Given the description of an element on the screen output the (x, y) to click on. 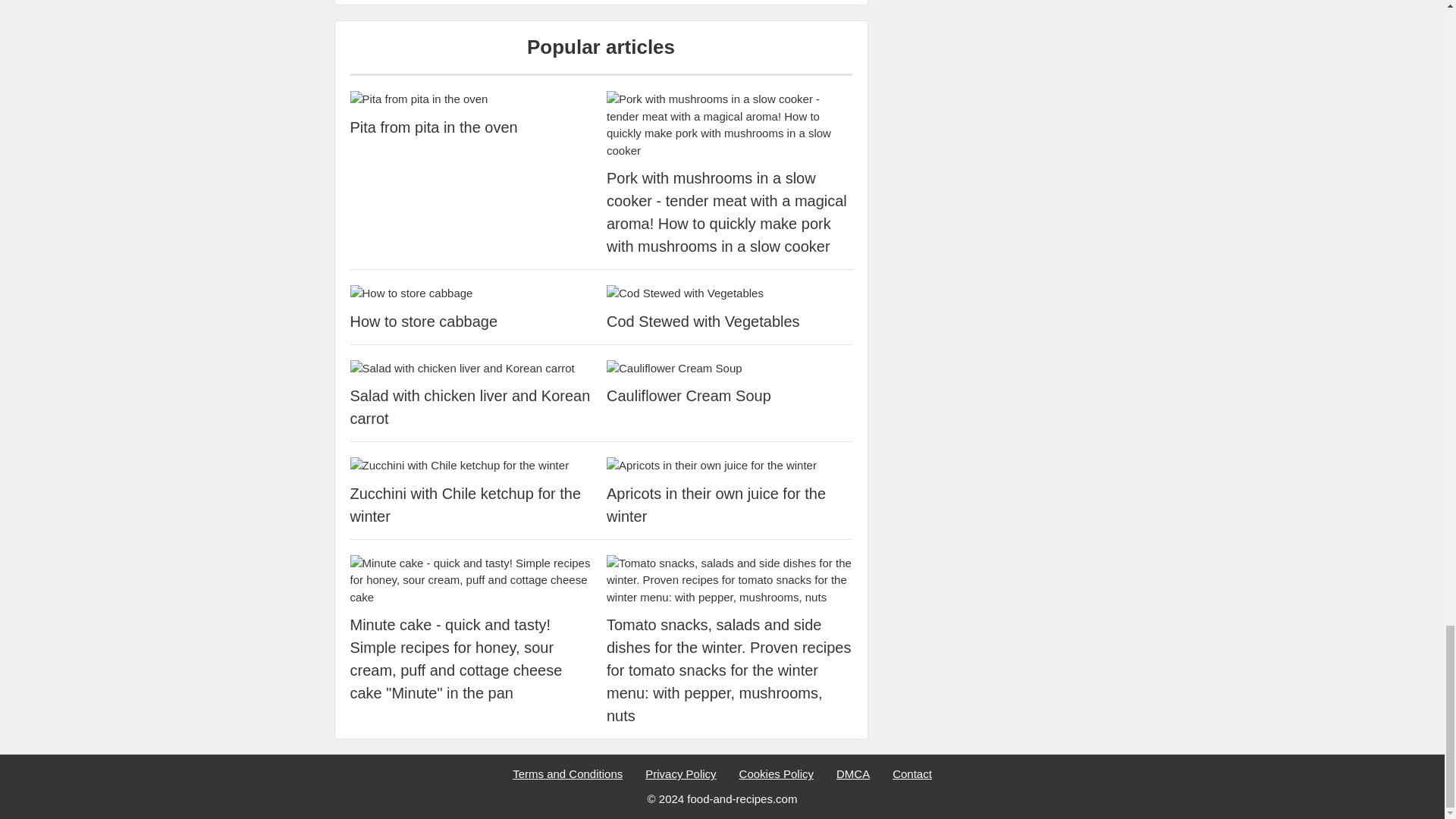
How to store cabbage (472, 293)
Cod Stewed with Vegetables (729, 293)
Salad with chicken liver and Korean carrot (472, 406)
How to store cabbage (472, 321)
Cod Stewed with Vegetables (729, 321)
Pita from pita in the oven (472, 127)
Pita from pita in the oven (472, 99)
Salad with chicken liver and Korean carrot (472, 368)
